Given the description of an element on the screen output the (x, y) to click on. 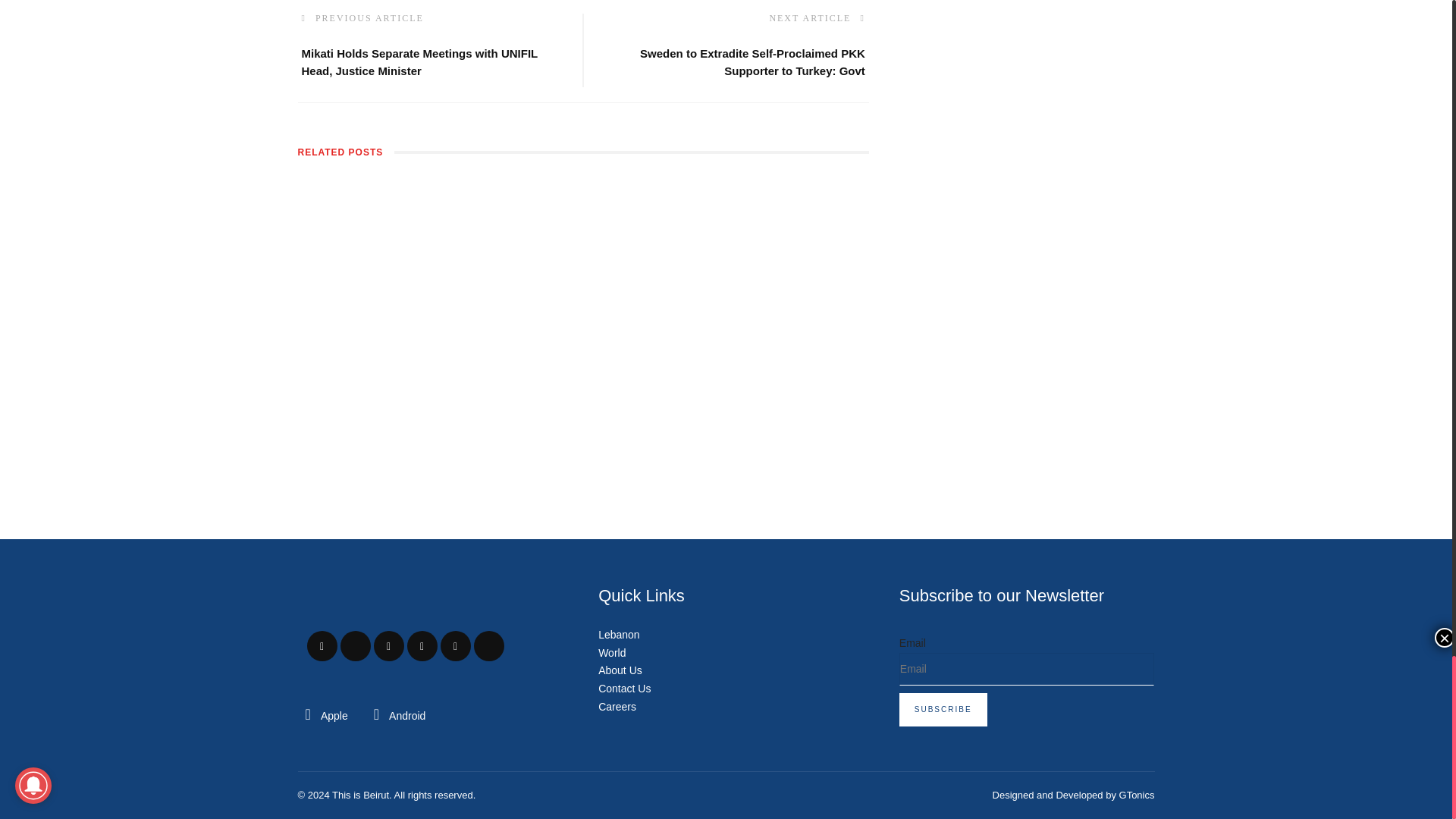
Subscribe (943, 709)
